Given the description of an element on the screen output the (x, y) to click on. 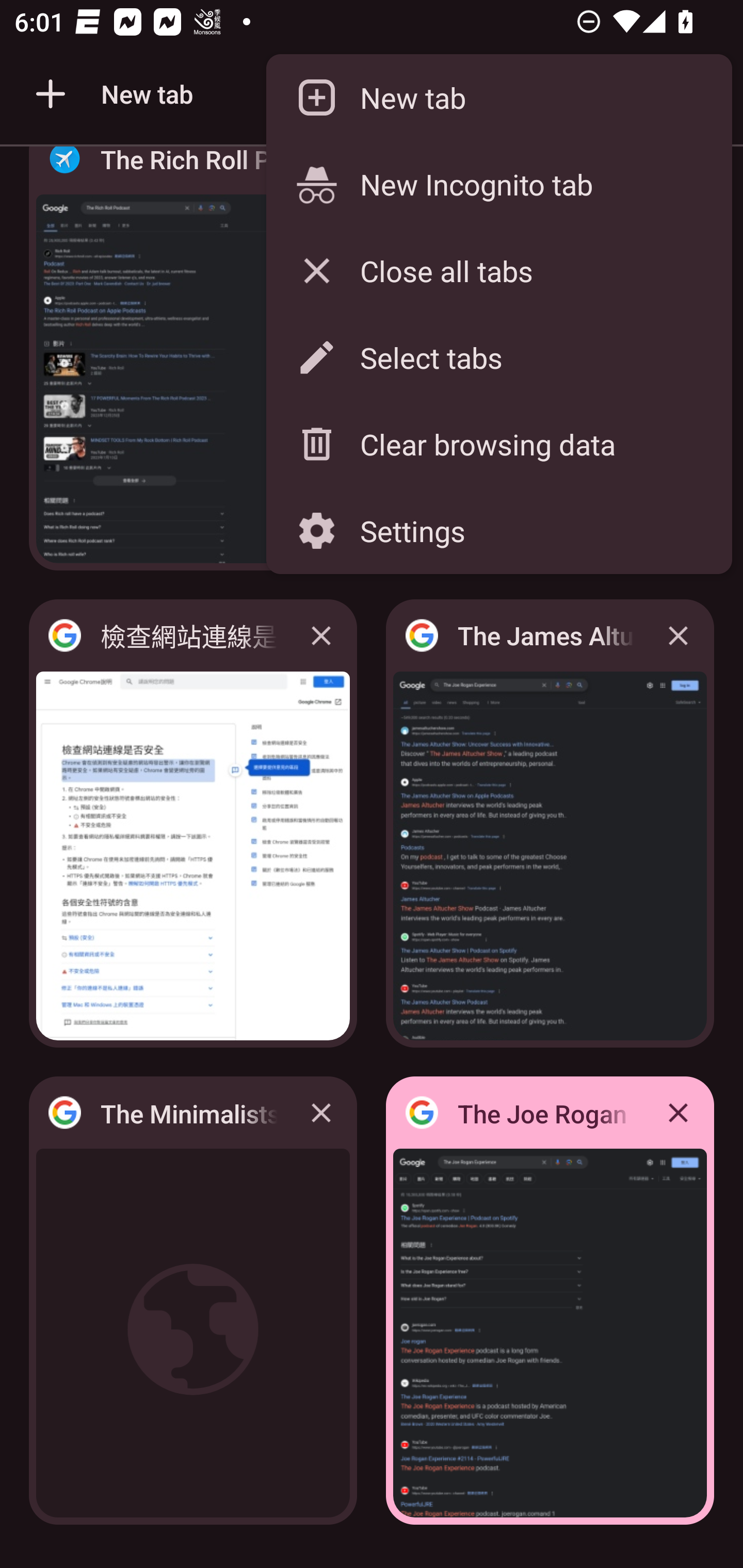
New tab (498, 97)
New Incognito tab (498, 184)
Close all tabs (498, 270)
Select tabs (498, 357)
Clear browsing data (498, 444)
Settings (498, 530)
